Given the description of an element on the screen output the (x, y) to click on. 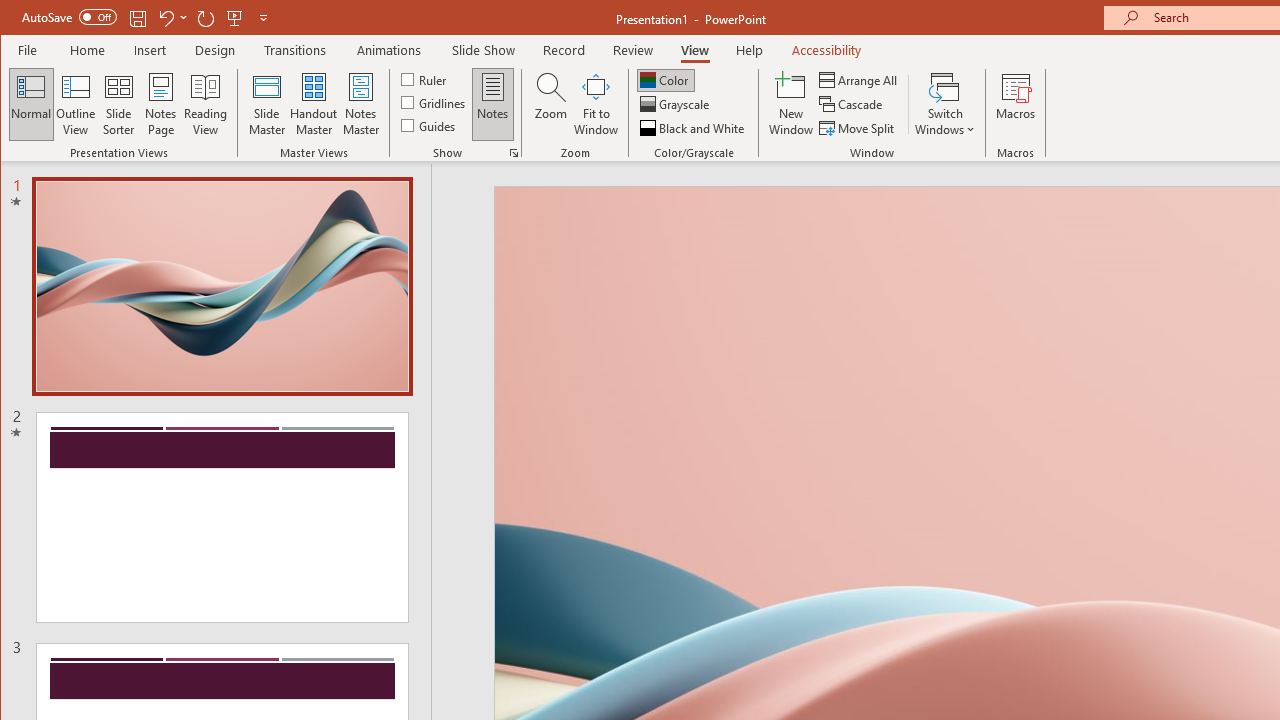
Notes Page (160, 104)
Macros (1016, 104)
Black and White (694, 127)
Arrange All (859, 80)
Outline View (75, 104)
Grayscale (676, 103)
Zoom... (550, 104)
Slide Master (266, 104)
